Given the description of an element on the screen output the (x, y) to click on. 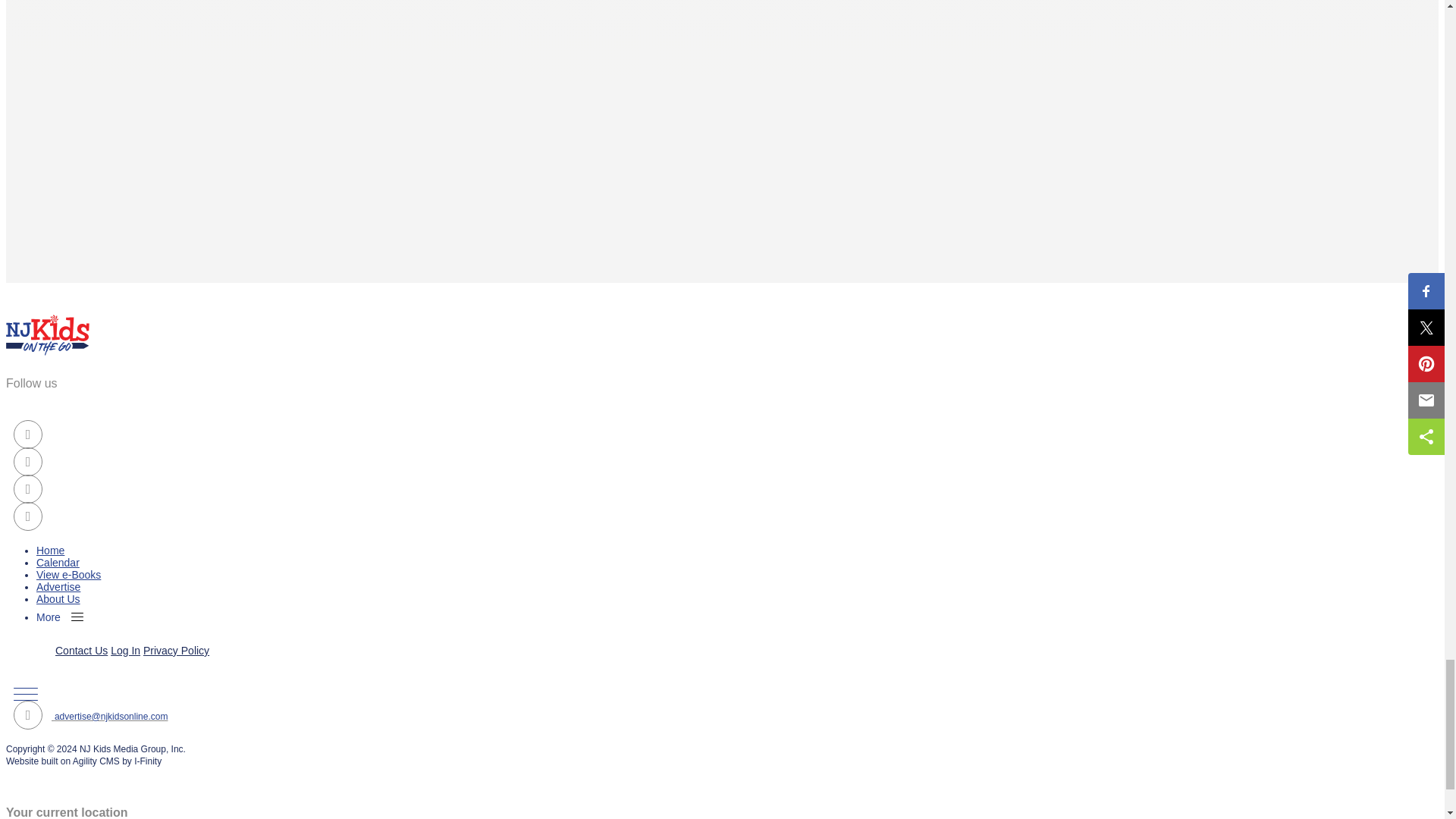
3rd party ad content (118, 142)
3rd party ad content (118, 23)
